Given the description of an element on the screen output the (x, y) to click on. 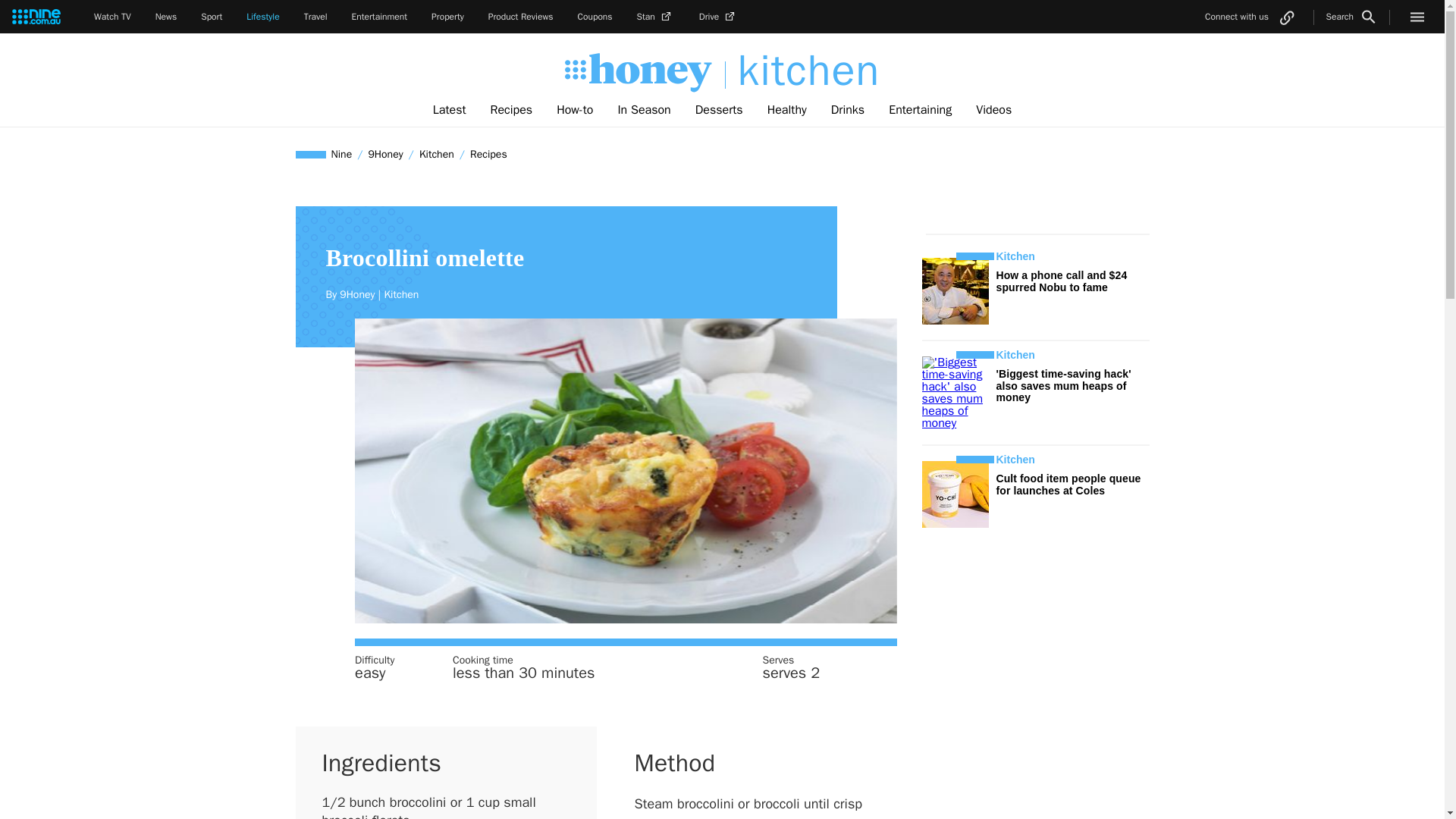
Kitchen (436, 154)
kitchen (802, 71)
Drive (718, 16)
Desserts (718, 109)
Product Reviews (520, 16)
Lifestyle (262, 16)
Stan (656, 16)
Entertaining (919, 109)
Method (673, 762)
Coupons (595, 16)
